Given the description of an element on the screen output the (x, y) to click on. 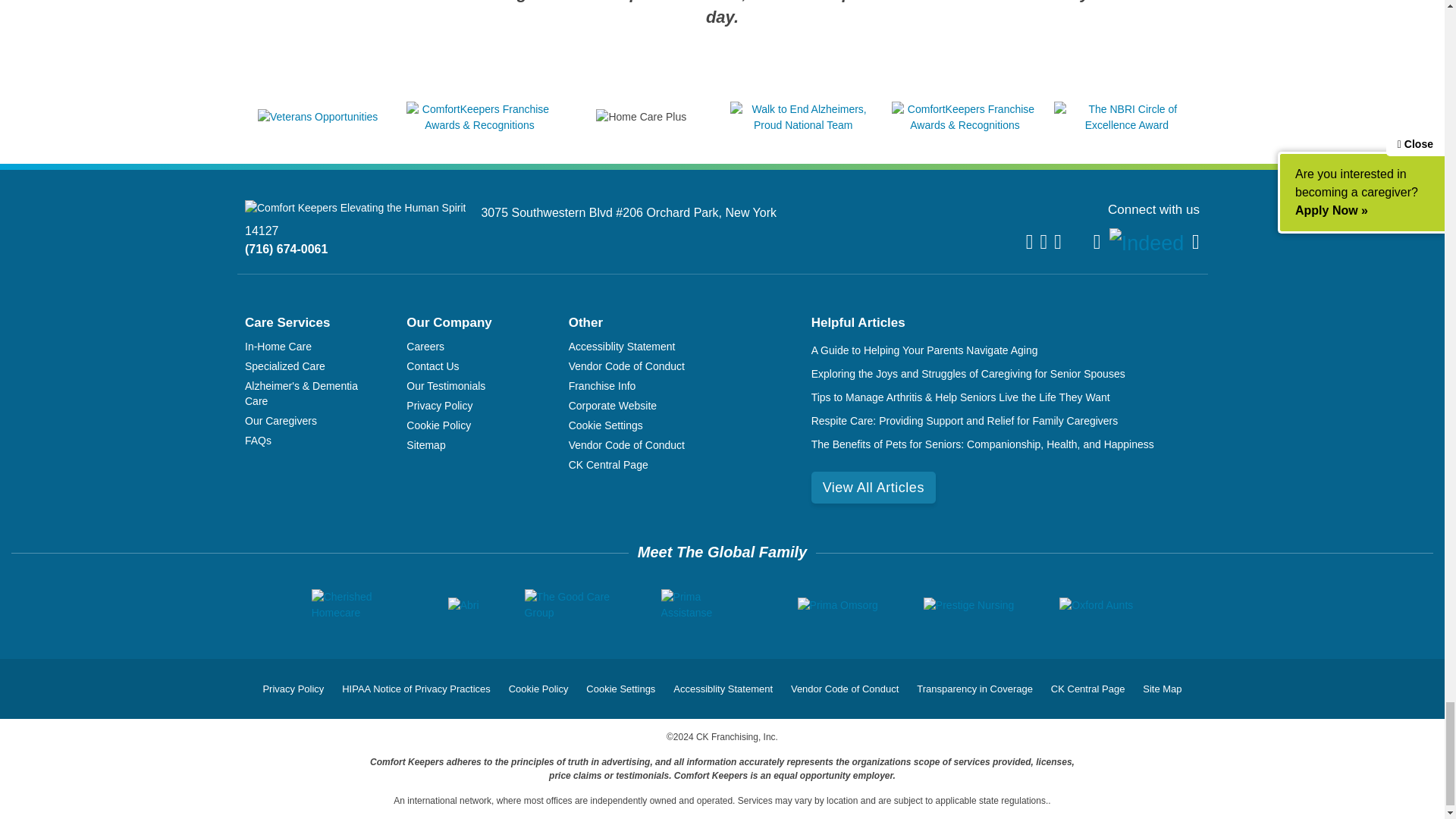
Cherished Homecare (357, 604)
Oxford Aunts (1095, 605)
Learn more about the NBRI Circle of Excellence Award (1126, 124)
Prima Assistanse (706, 604)
Prima Omsorg (837, 605)
Abri (463, 605)
Indeed (1147, 243)
Prestige Nursing (968, 605)
Veterans Opportunities (317, 116)
The Good Care Group (569, 604)
Indeed (1147, 242)
Walk to End Alzheimers, Proud National Team (803, 124)
